Given the description of an element on the screen output the (x, y) to click on. 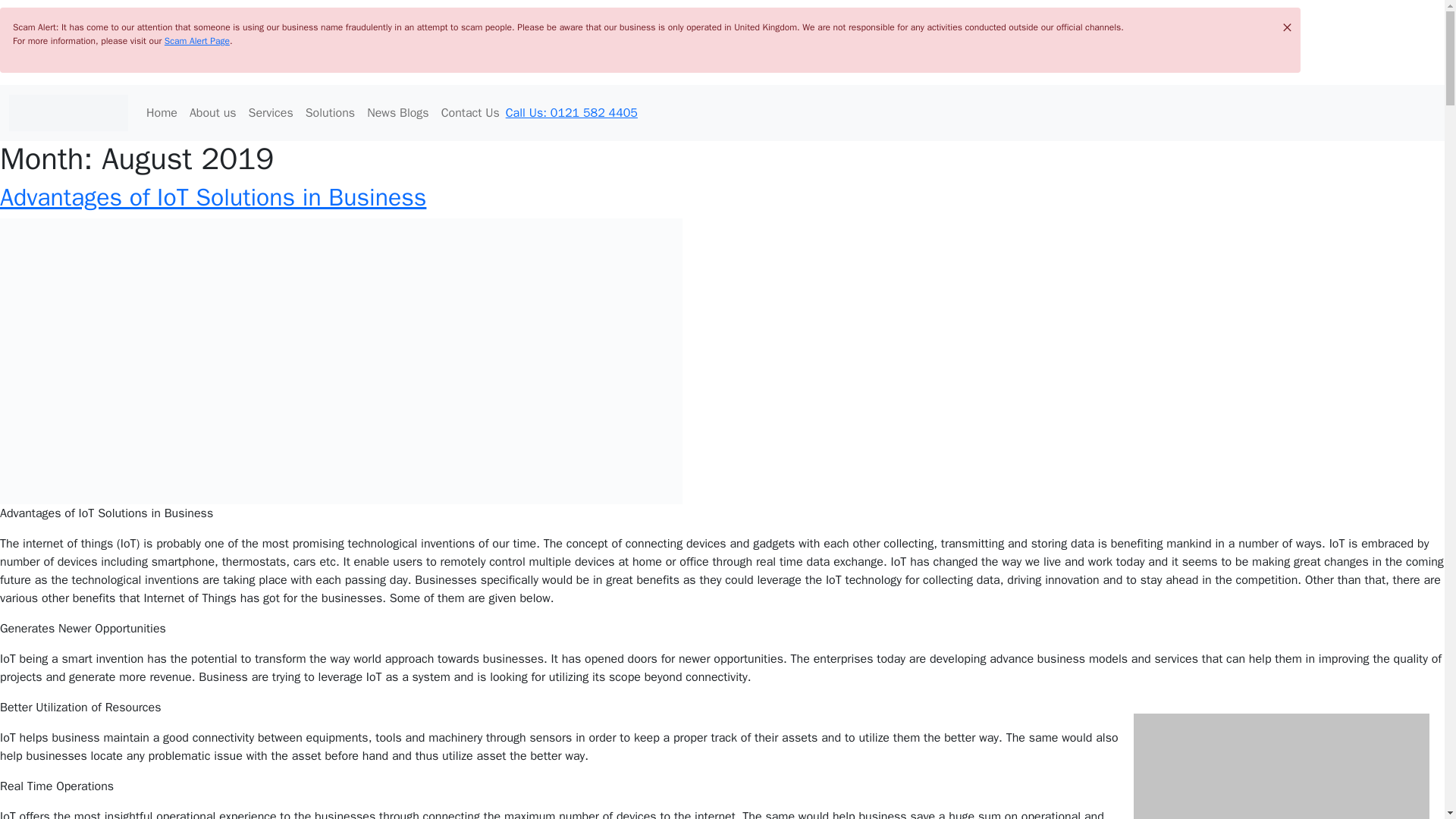
Services (271, 112)
About us (213, 112)
News Blogs (398, 112)
Home (161, 112)
Solutions (330, 112)
Advantages of IoT Solutions in Business (213, 196)
Call Us: 0121 582 4405 (574, 113)
Scam Alert Page (197, 40)
Contact Us (470, 112)
